Given the description of an element on the screen output the (x, y) to click on. 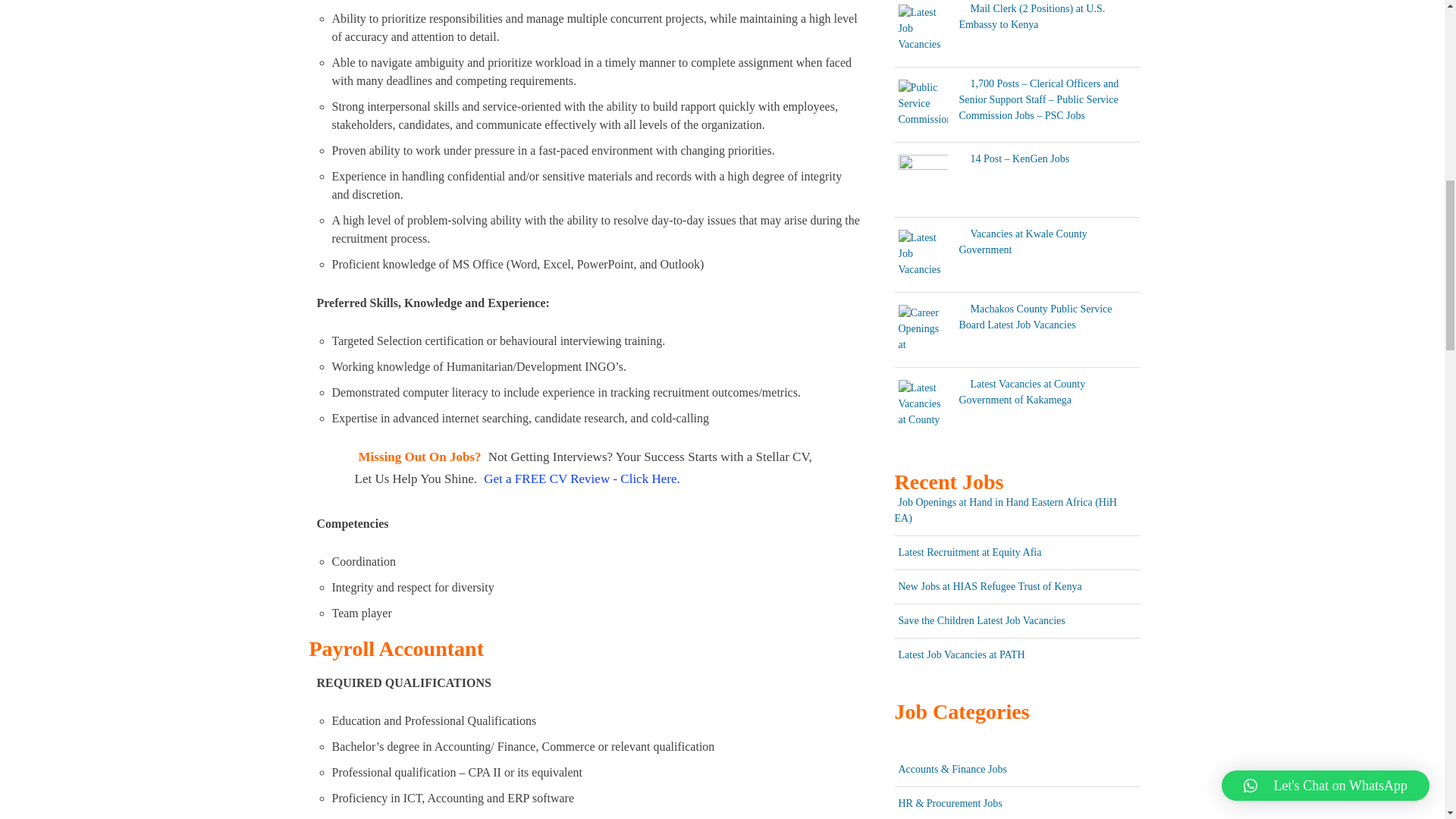
Get a FREE CV Review - Click Here. (581, 478)
